Given the description of an element on the screen output the (x, y) to click on. 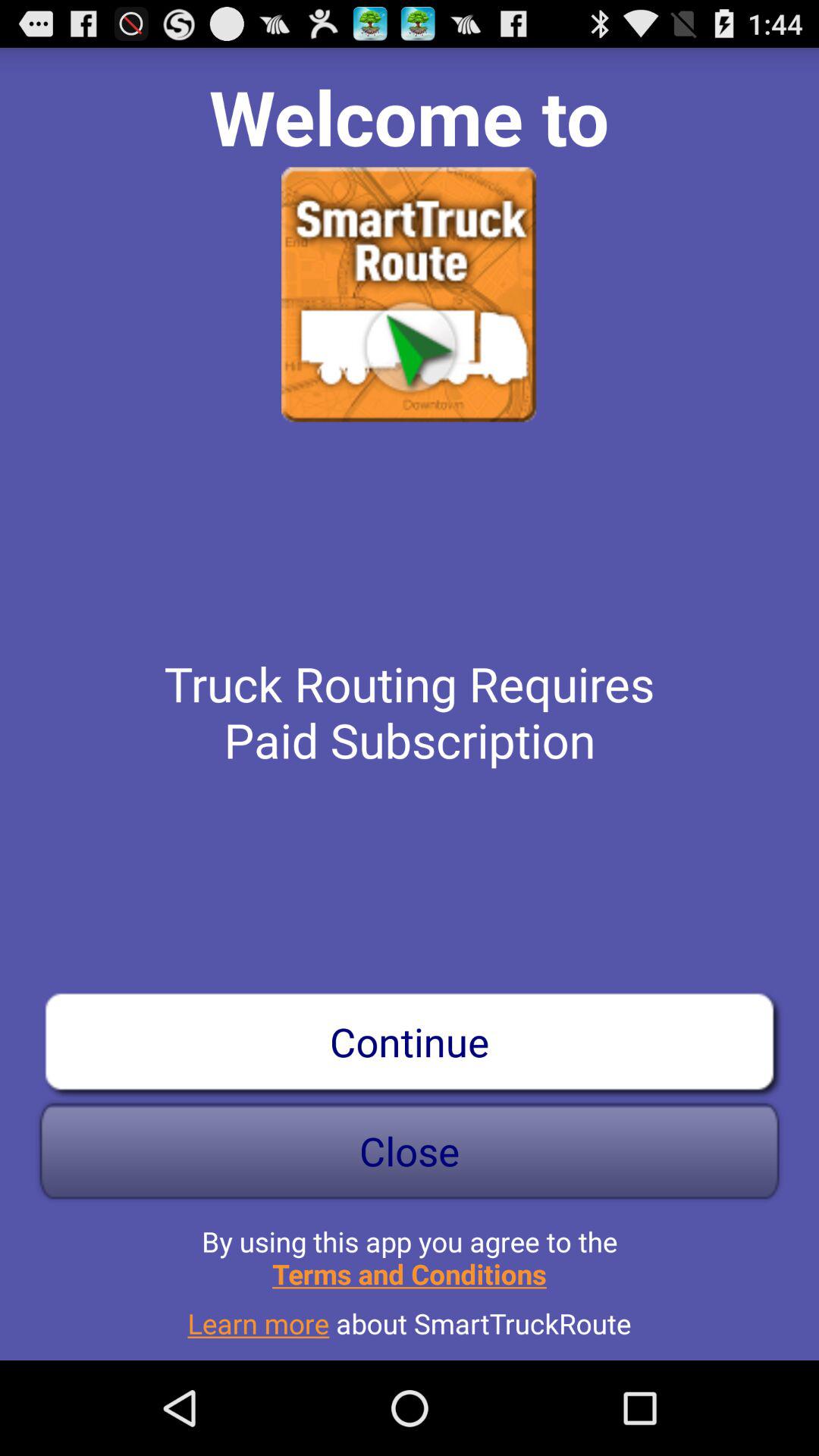
turn on the icon above by using this icon (409, 1150)
